Given the description of an element on the screen output the (x, y) to click on. 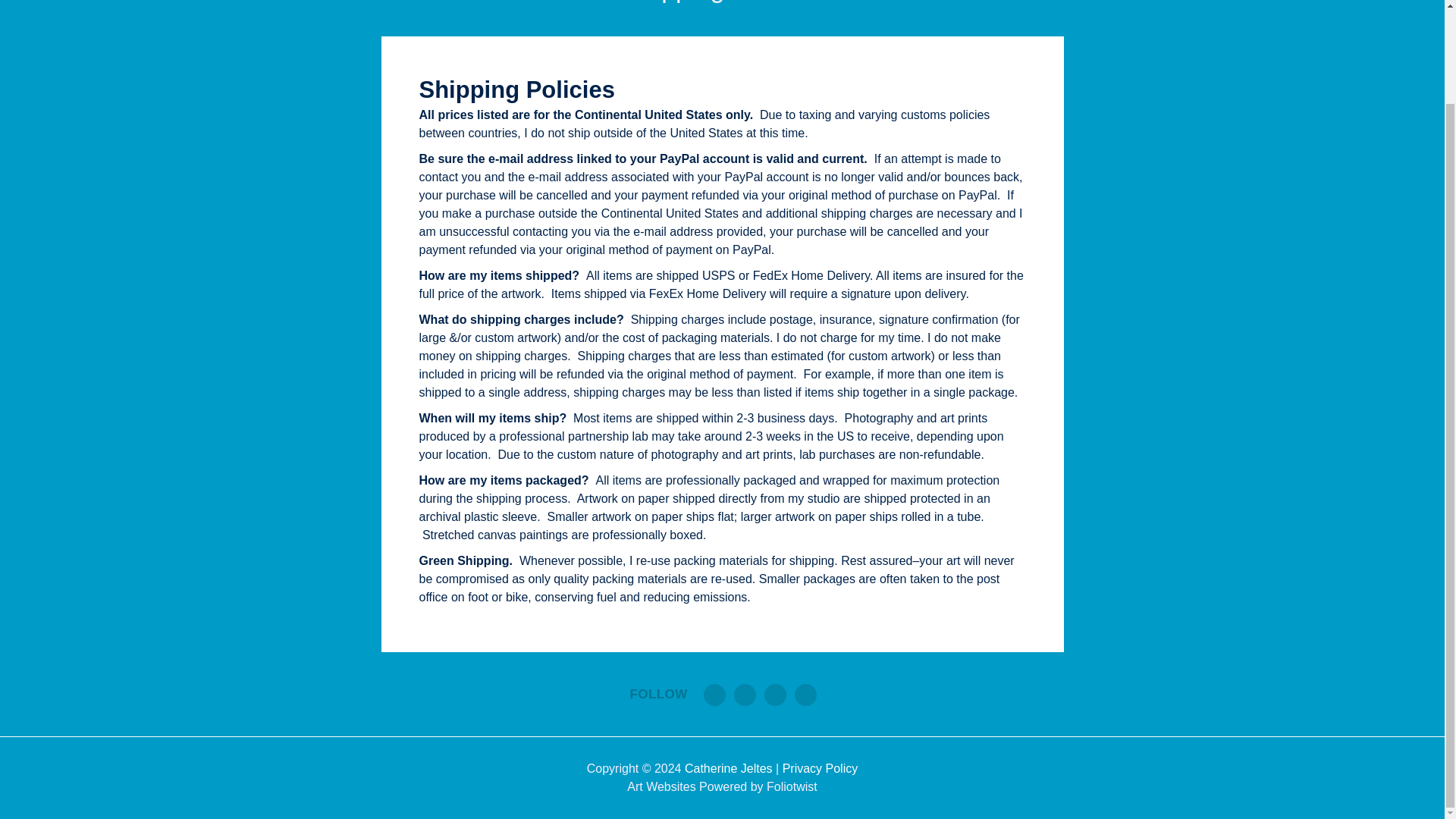
Follow on Facebook (744, 694)
Art Websites Powered by Foliotwist (721, 786)
Follow on Instagram (805, 694)
Subscribe to RSS (714, 694)
Follow on Pinterest (775, 694)
Privacy Policy (821, 768)
Catherine Jeltes (728, 768)
